Given the description of an element on the screen output the (x, y) to click on. 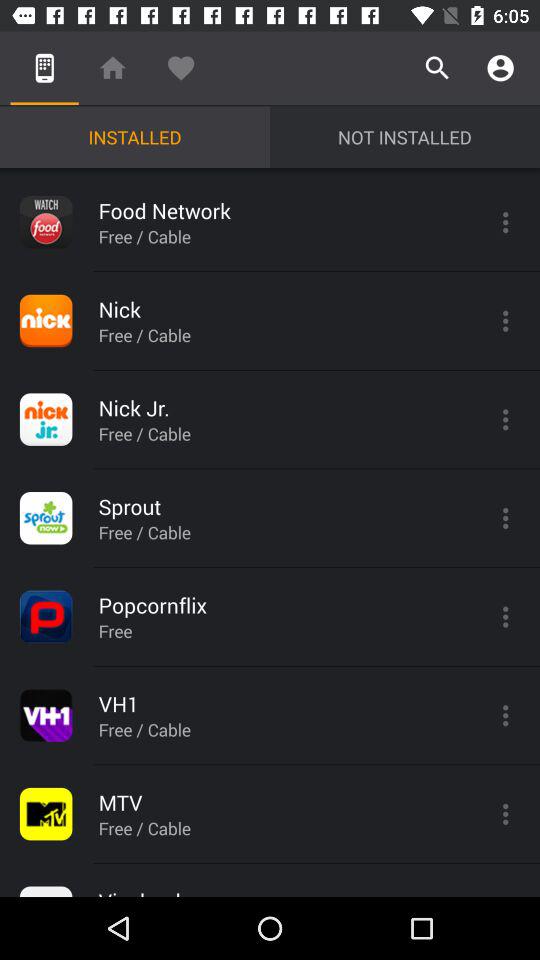
turn on item above not installed icon (437, 67)
